Given the description of an element on the screen output the (x, y) to click on. 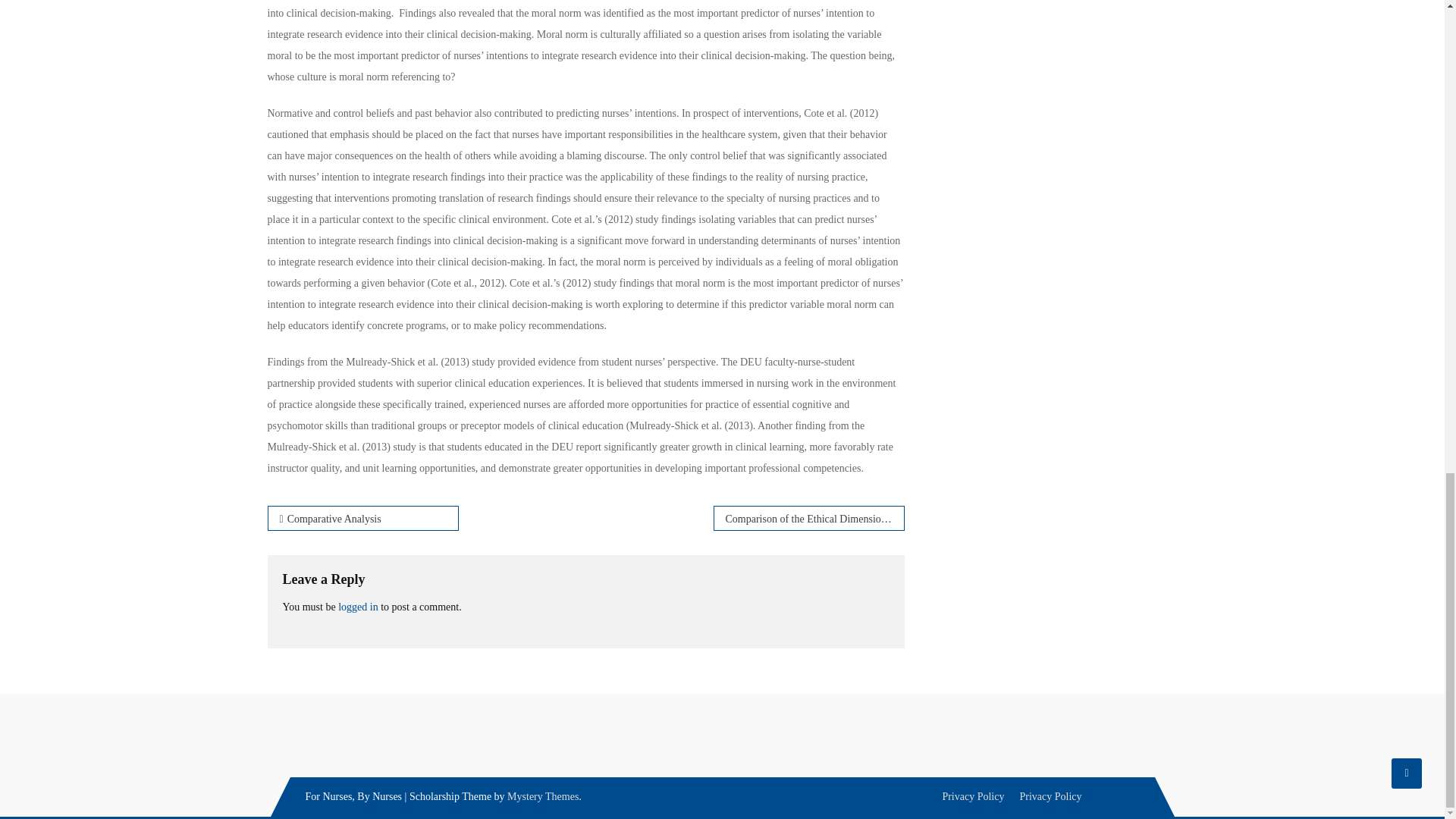
Privacy Policy (973, 796)
Mystery Themes (542, 796)
Privacy Policy (1050, 796)
Comparative Analysis (362, 518)
Search (1129, 481)
logged in (357, 606)
